Given the description of an element on the screen output the (x, y) to click on. 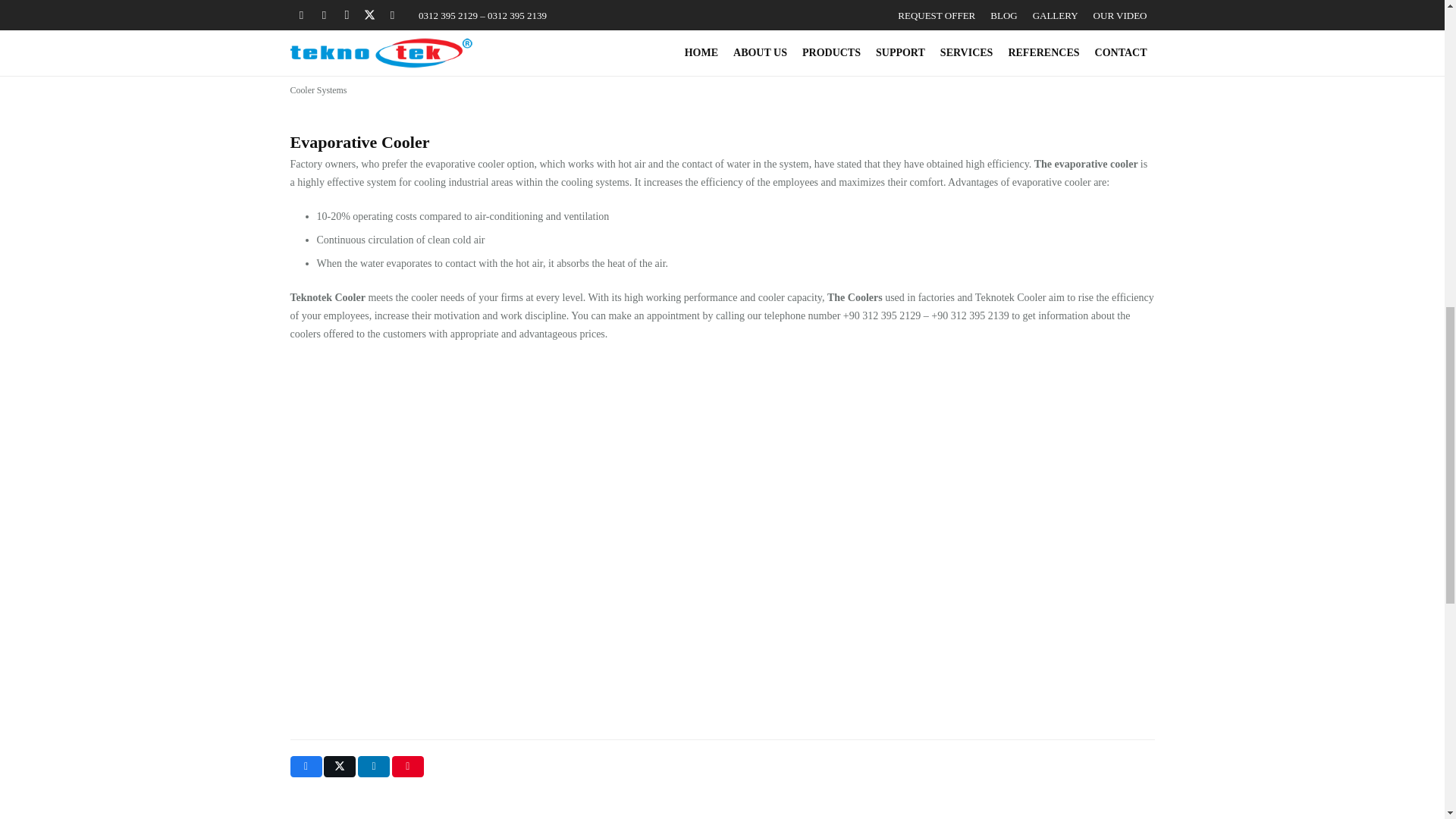
Back to top (1413, 26)
Tweet this (339, 766)
Pin this (407, 766)
Share this (305, 766)
Share this (374, 766)
